Given the description of an element on the screen output the (x, y) to click on. 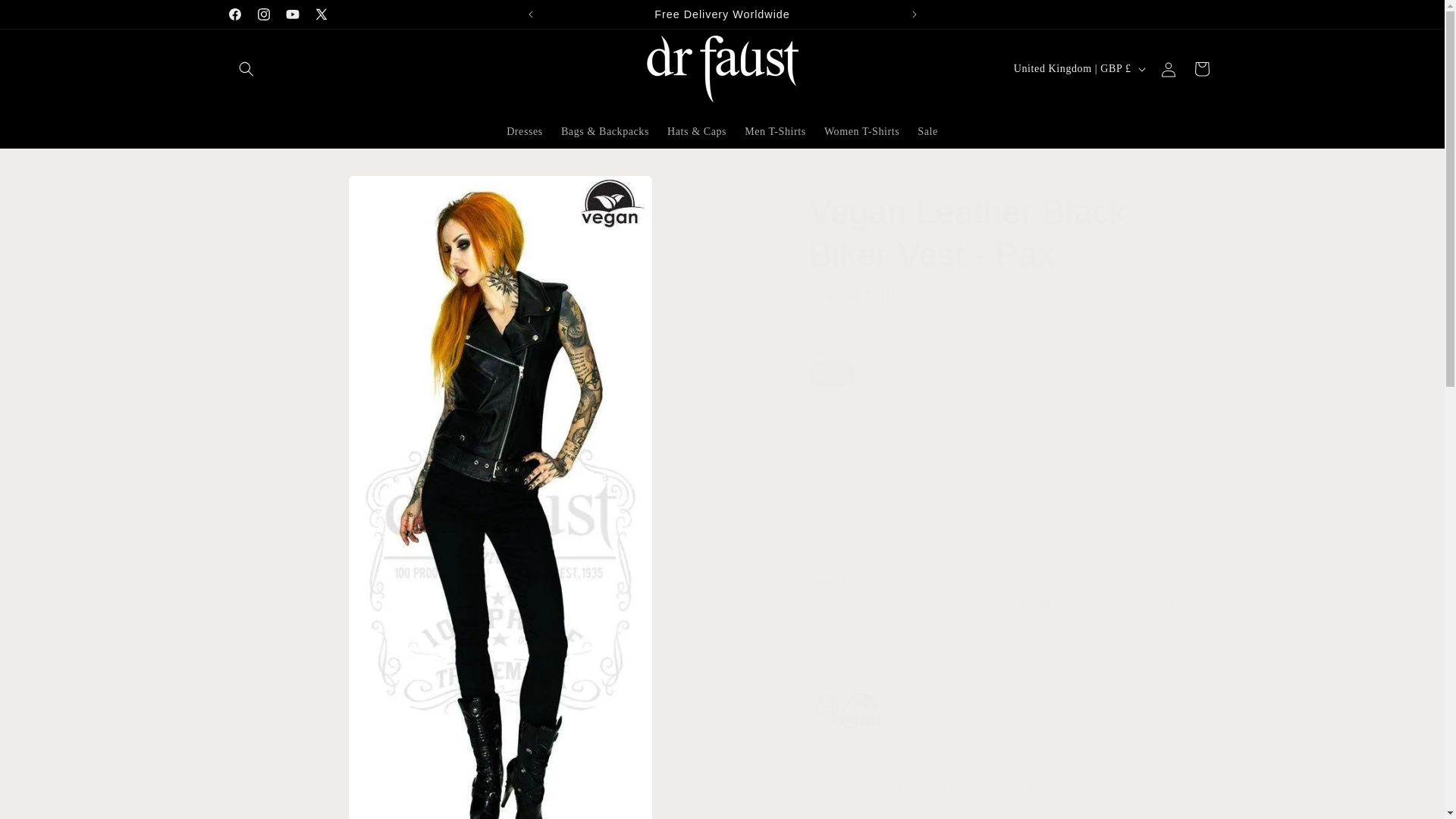
Skip to product information (274, 192)
Men T-Shirts (775, 132)
1 (863, 436)
Log in (1168, 68)
Cart (1201, 68)
Skip to content (45, 17)
Instagram (263, 14)
Sale (927, 132)
